Given the description of an element on the screen output the (x, y) to click on. 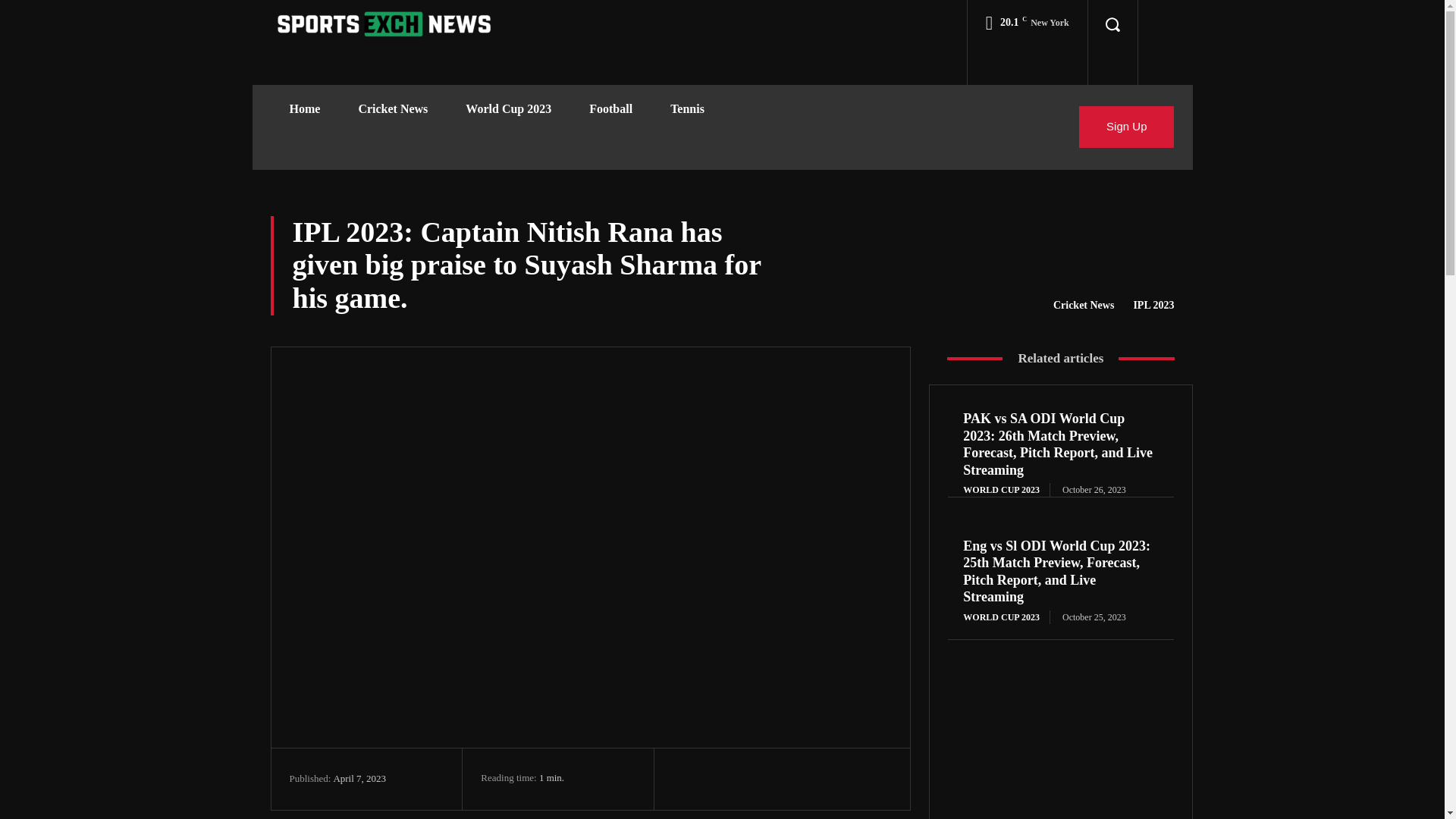
Sign Up (1125, 127)
IPL 2023 (1152, 305)
World Cup 2023 (508, 109)
Cricket News (392, 109)
Football (610, 109)
Sign Up (1125, 127)
Cricket News (1082, 305)
Home (304, 109)
Tennis (686, 109)
